Given the description of an element on the screen output the (x, y) to click on. 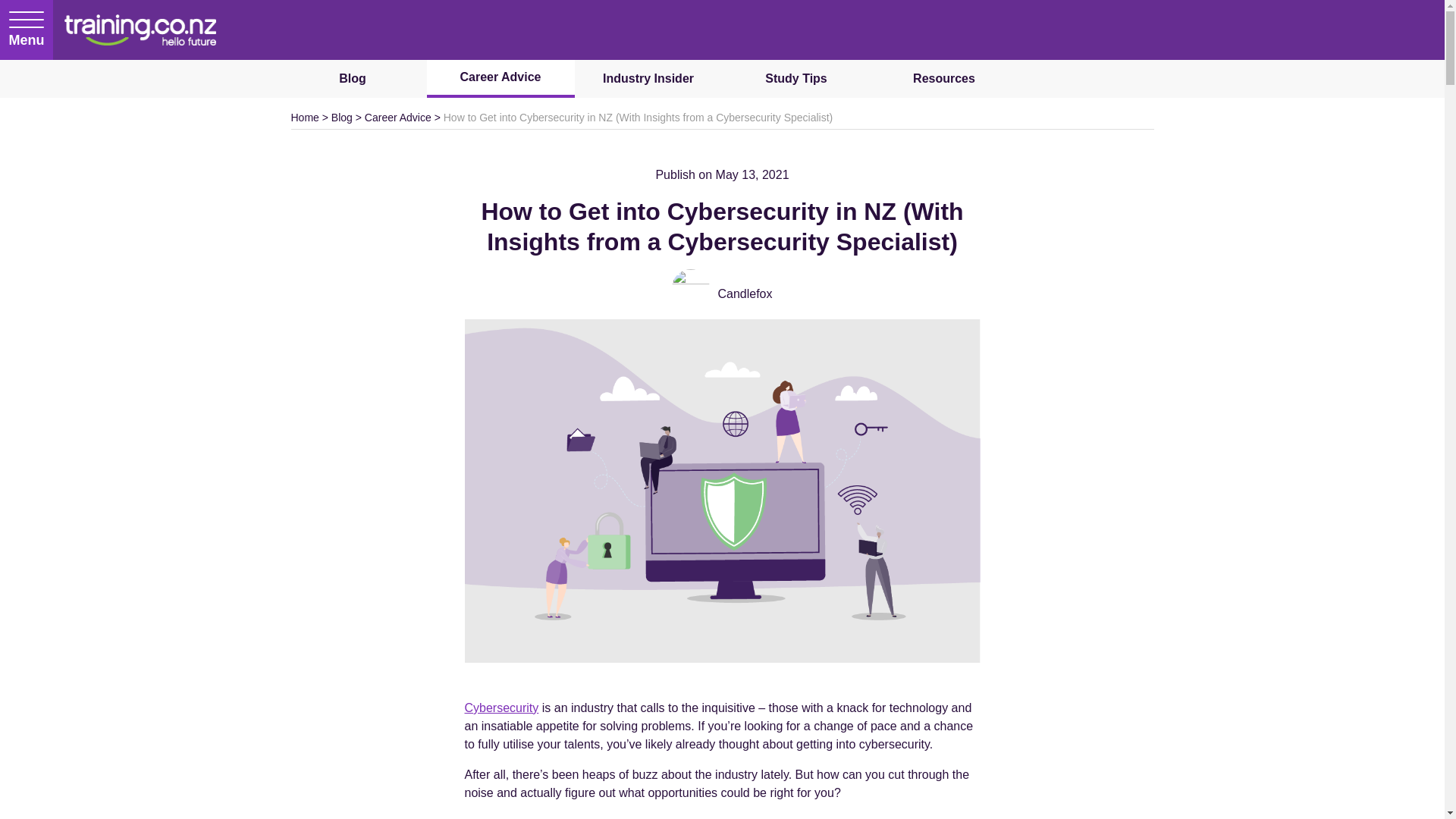
Career Advice (397, 117)
Cybersecurity (501, 707)
Resources (943, 78)
Study Tips (795, 78)
Blog (352, 78)
Home (304, 117)
Blog (341, 117)
Training.co.nz (139, 29)
Career Advice (499, 78)
Industry Insider (648, 78)
